Given the description of an element on the screen output the (x, y) to click on. 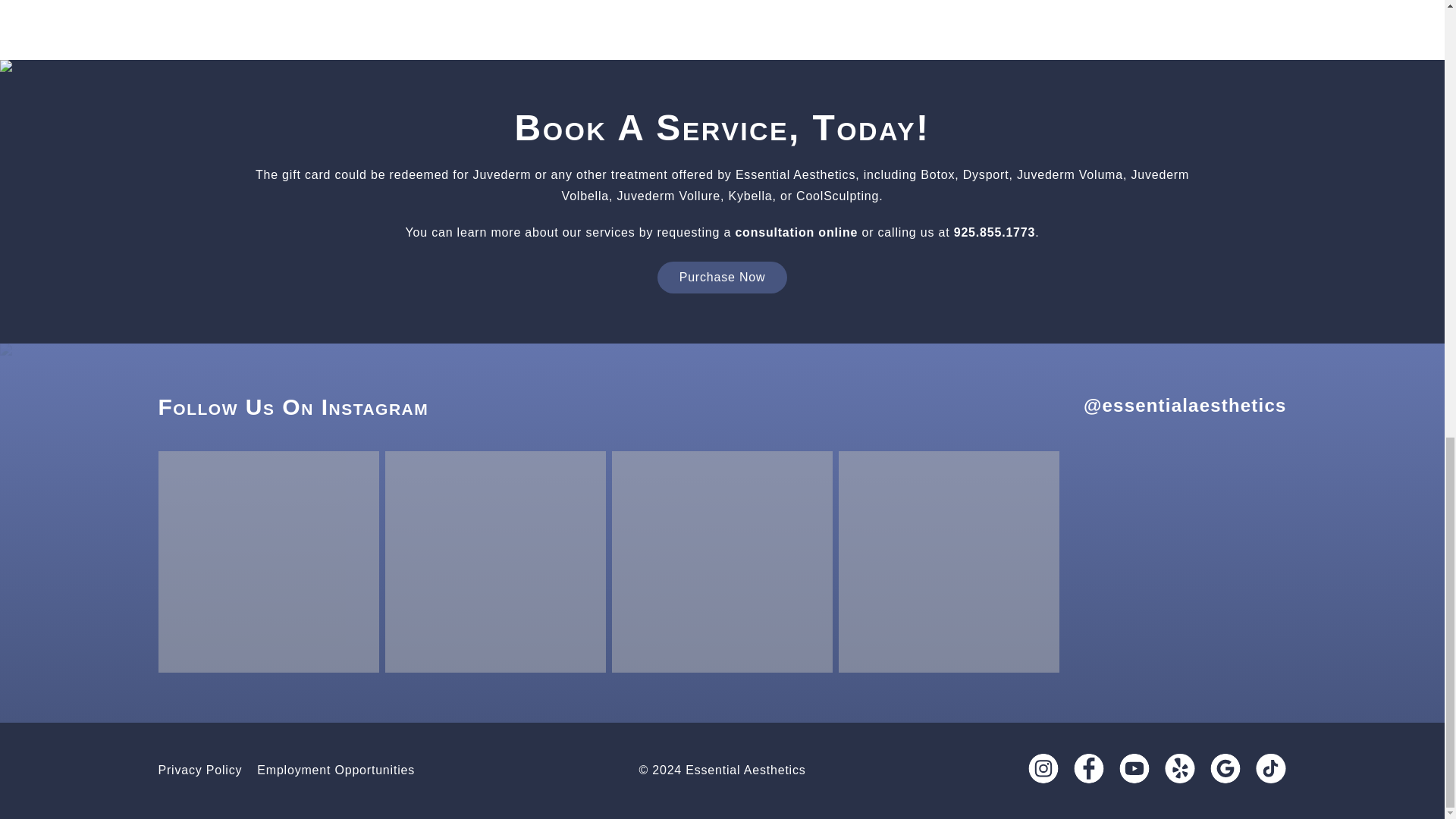
Employment Opportunities (343, 769)
consultation online (796, 232)
Instagram Link (1042, 767)
Purchase Now (722, 277)
Facebook Link (1088, 767)
925.855.1773 (994, 232)
Privacy Policy (207, 769)
